Given the description of an element on the screen output the (x, y) to click on. 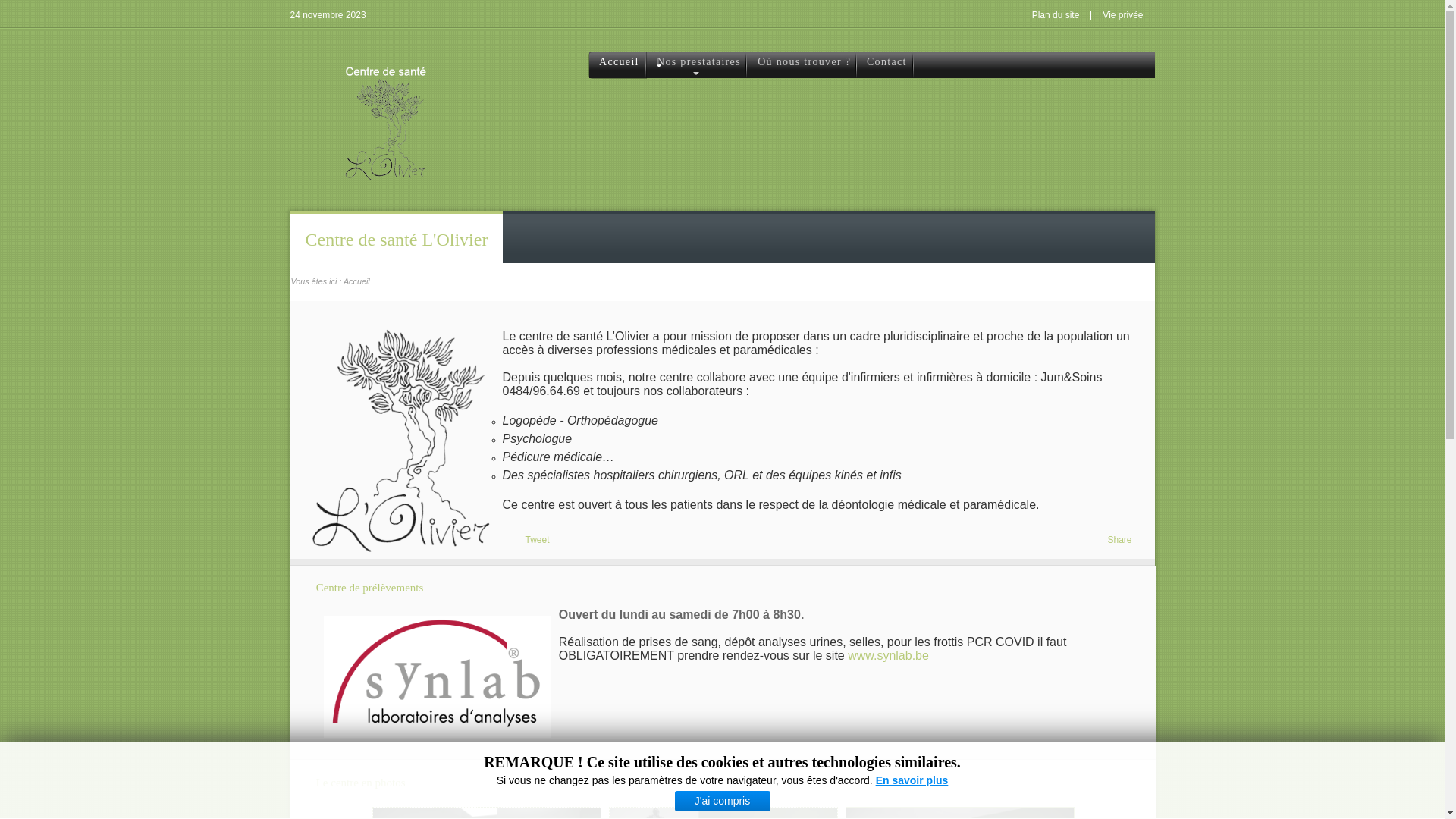
Accueil Element type: text (617, 65)
www.synlab.be Element type: text (887, 655)
Plan du site Element type: text (1055, 14)
Contact Element type: text (885, 65)
Tweet Element type: text (536, 539)
Share Element type: text (1119, 539)
